Given the description of an element on the screen output the (x, y) to click on. 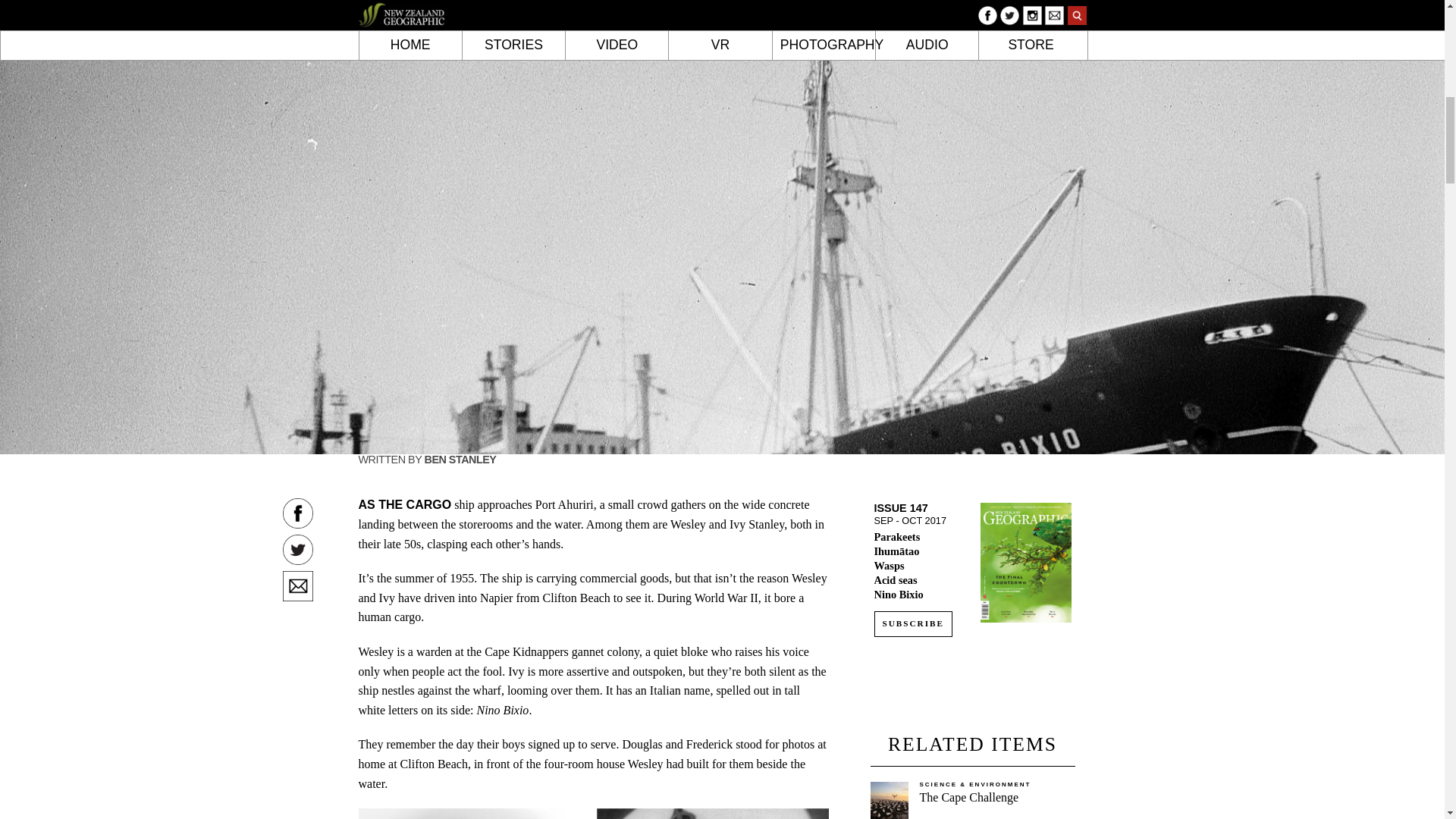
BEN STANLEY (459, 459)
The Cape Challenge (967, 797)
Posts by Ben Stanley (459, 459)
SUBSCRIBE (912, 623)
ISSUE 147 (900, 508)
